Given the description of an element on the screen output the (x, y) to click on. 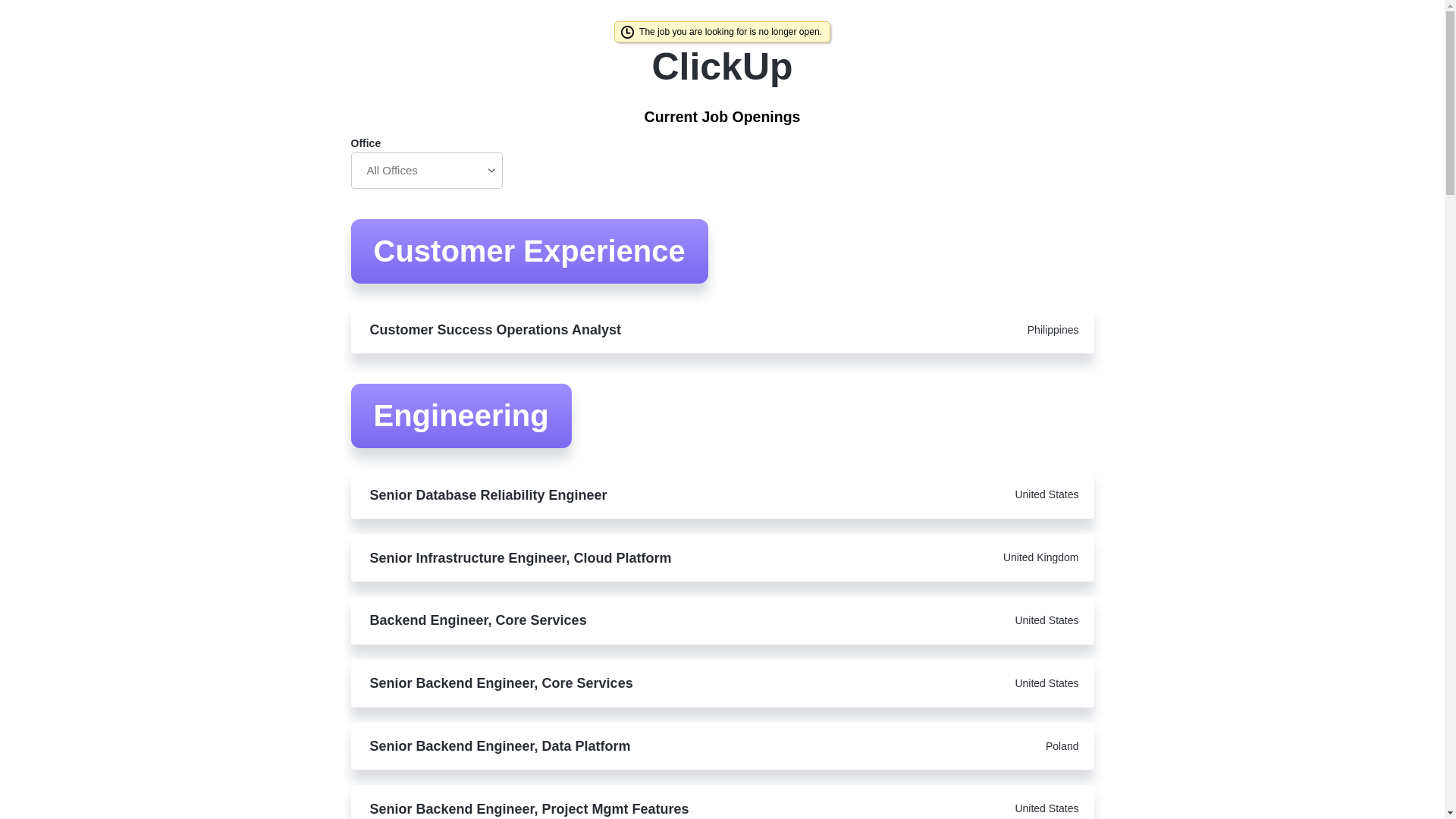
Senior Infrastructure Engineer, Cloud Platform (617, 558)
Backend Engineer, Core Services (617, 620)
Senior Backend Engineer, Data Platform (617, 745)
Senior Backend Engineer, Core Services (617, 682)
Customer Success Operations Analyst (617, 329)
Senior Backend Engineer, Project Mgmt Features (617, 808)
Senior Database Reliability Engineer (617, 495)
All Offices (426, 170)
